Given the description of an element on the screen output the (x, y) to click on. 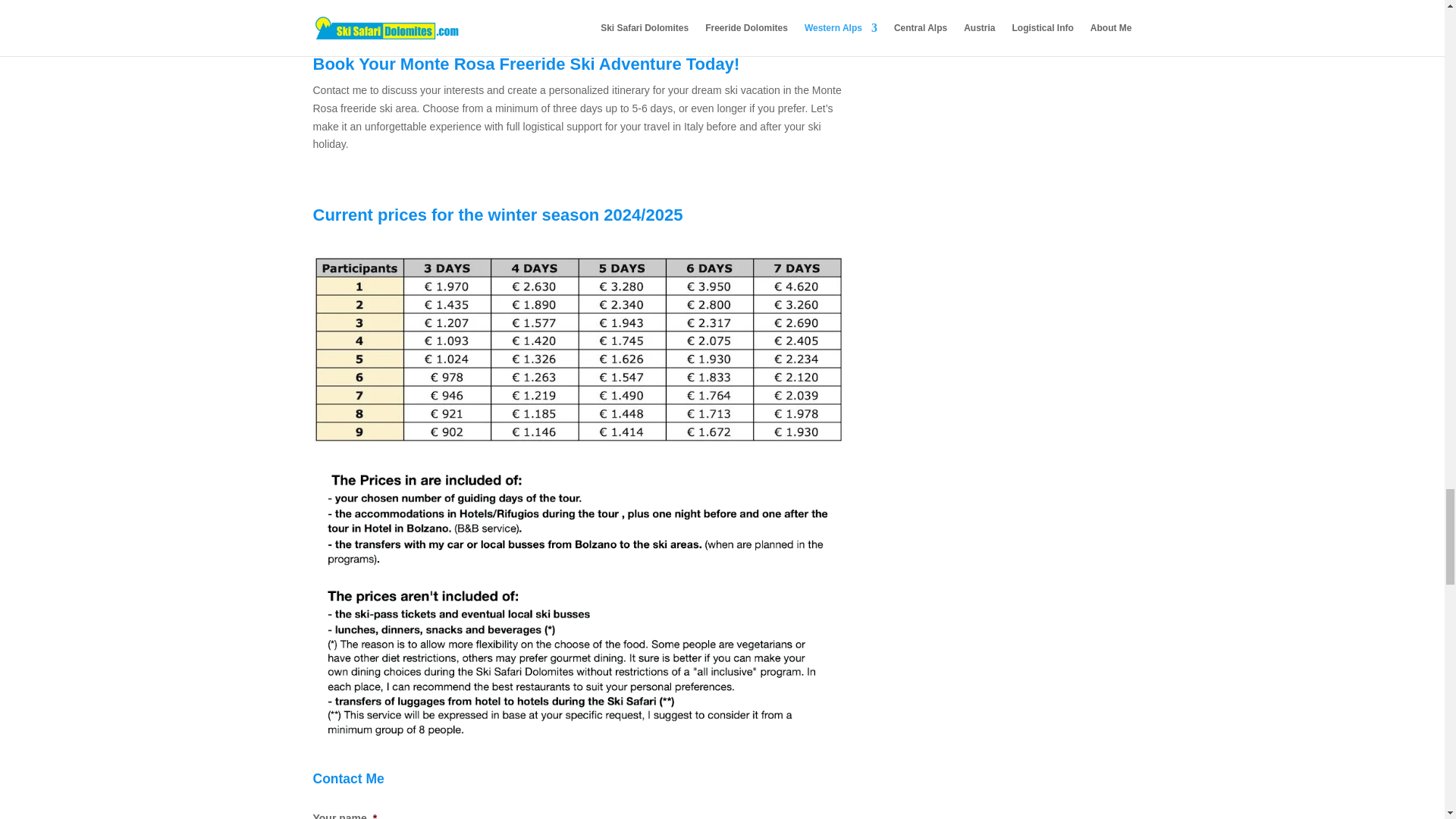
Ski Safari Prezzi 2024 (578, 349)
